Given the description of an element on the screen output the (x, y) to click on. 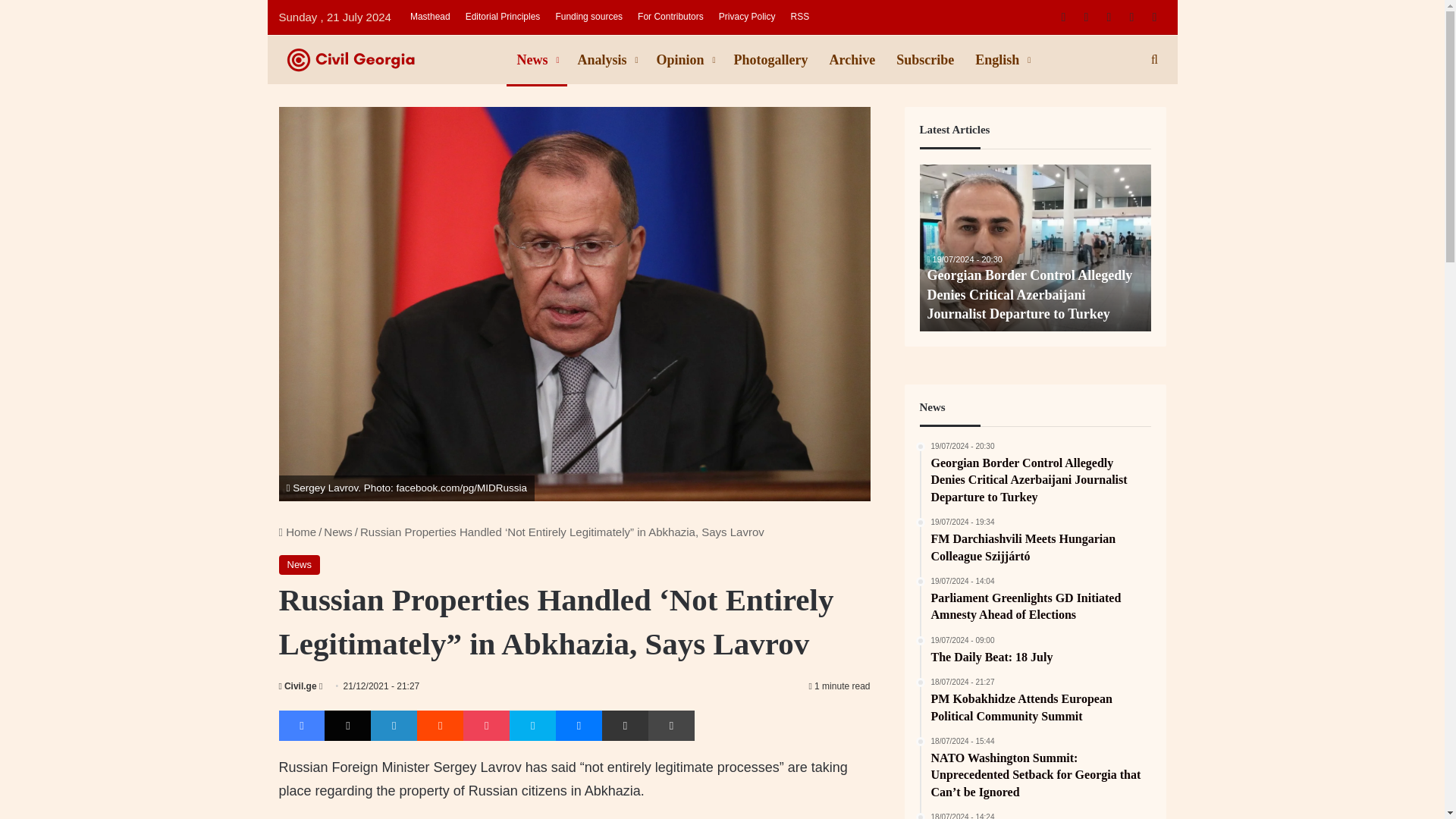
English (1000, 60)
Civil Georgia (392, 59)
Skype (532, 725)
Analysis (606, 60)
Funding sources (588, 17)
Editorial Principles (503, 17)
Facebook (301, 725)
Pocket (486, 725)
For Contributors (670, 17)
News (299, 564)
X (347, 725)
Home (298, 531)
English (1000, 60)
Photogallery (770, 60)
Civil.ge (298, 685)
